Given the description of an element on the screen output the (x, y) to click on. 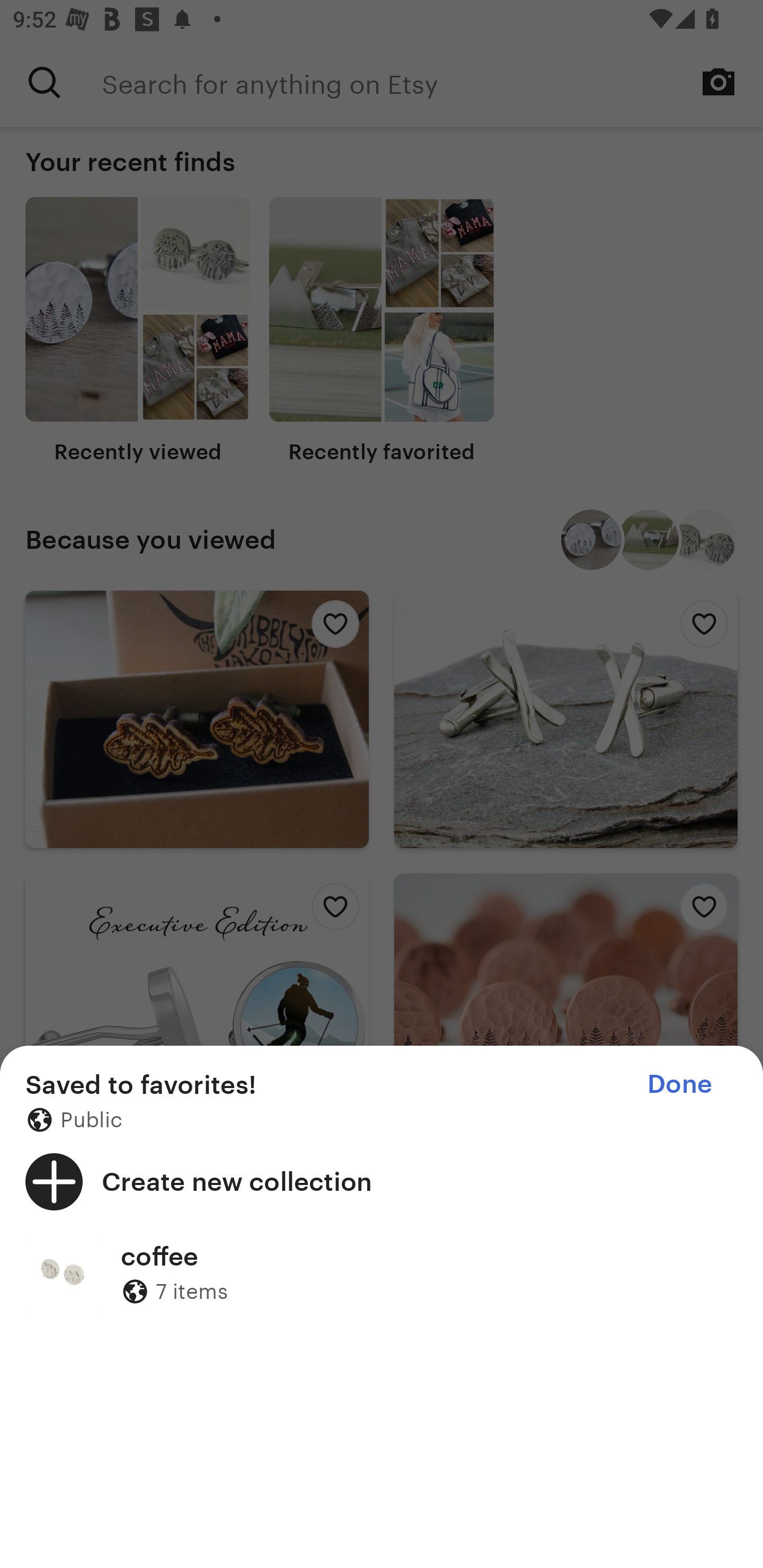
Done (679, 1083)
Create new collection (381, 1181)
coffee 7 items (381, 1273)
